Given the description of an element on the screen output the (x, y) to click on. 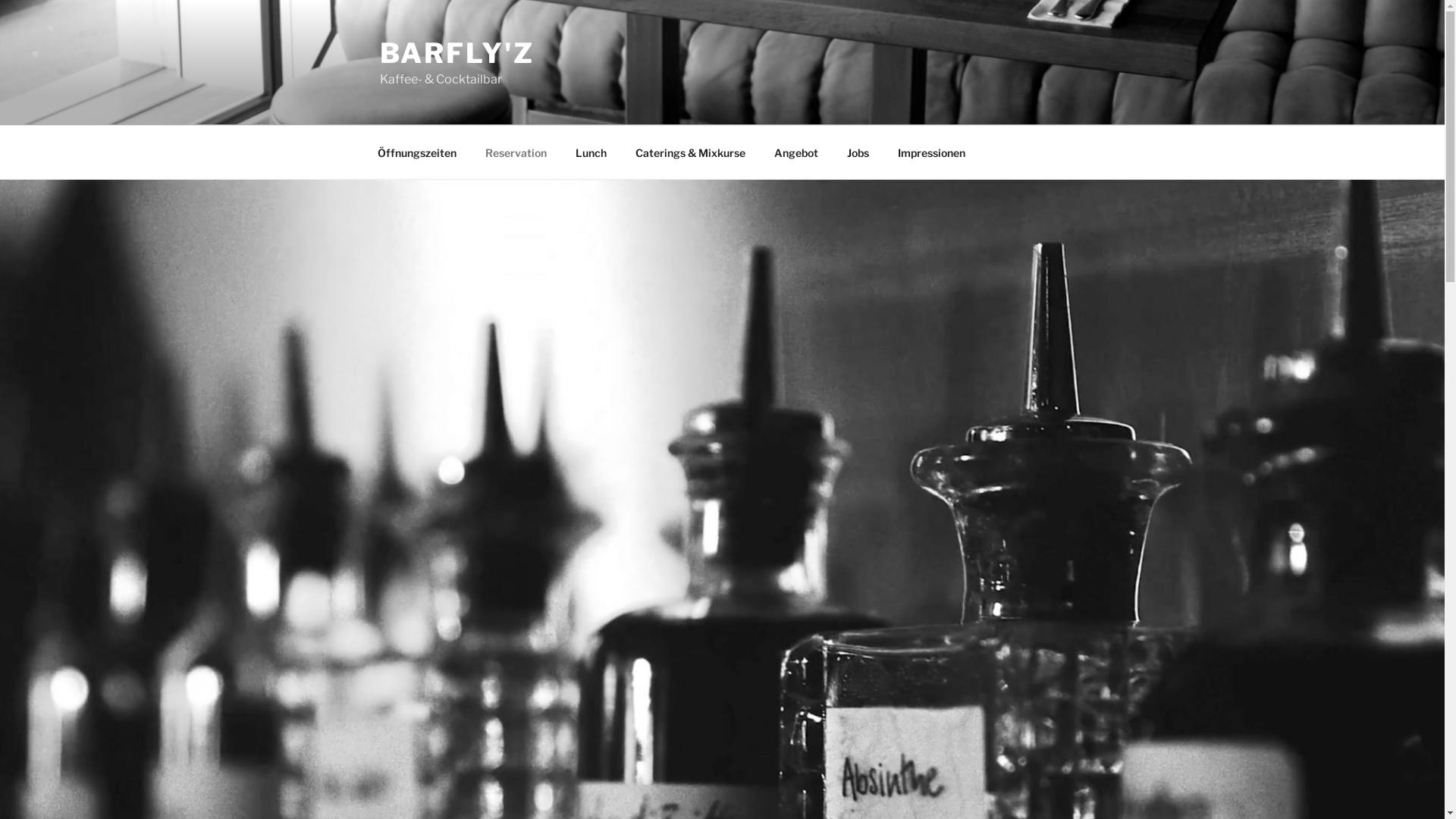
Caterings & Mixkurse Element type: text (689, 151)
Lunch Element type: text (591, 151)
Angebot Element type: text (796, 151)
Jobs Element type: text (858, 151)
BARFLY'Z Element type: text (456, 52)
Impressionen Element type: text (931, 151)
Reservation Element type: text (515, 151)
